Given the description of an element on the screen output the (x, y) to click on. 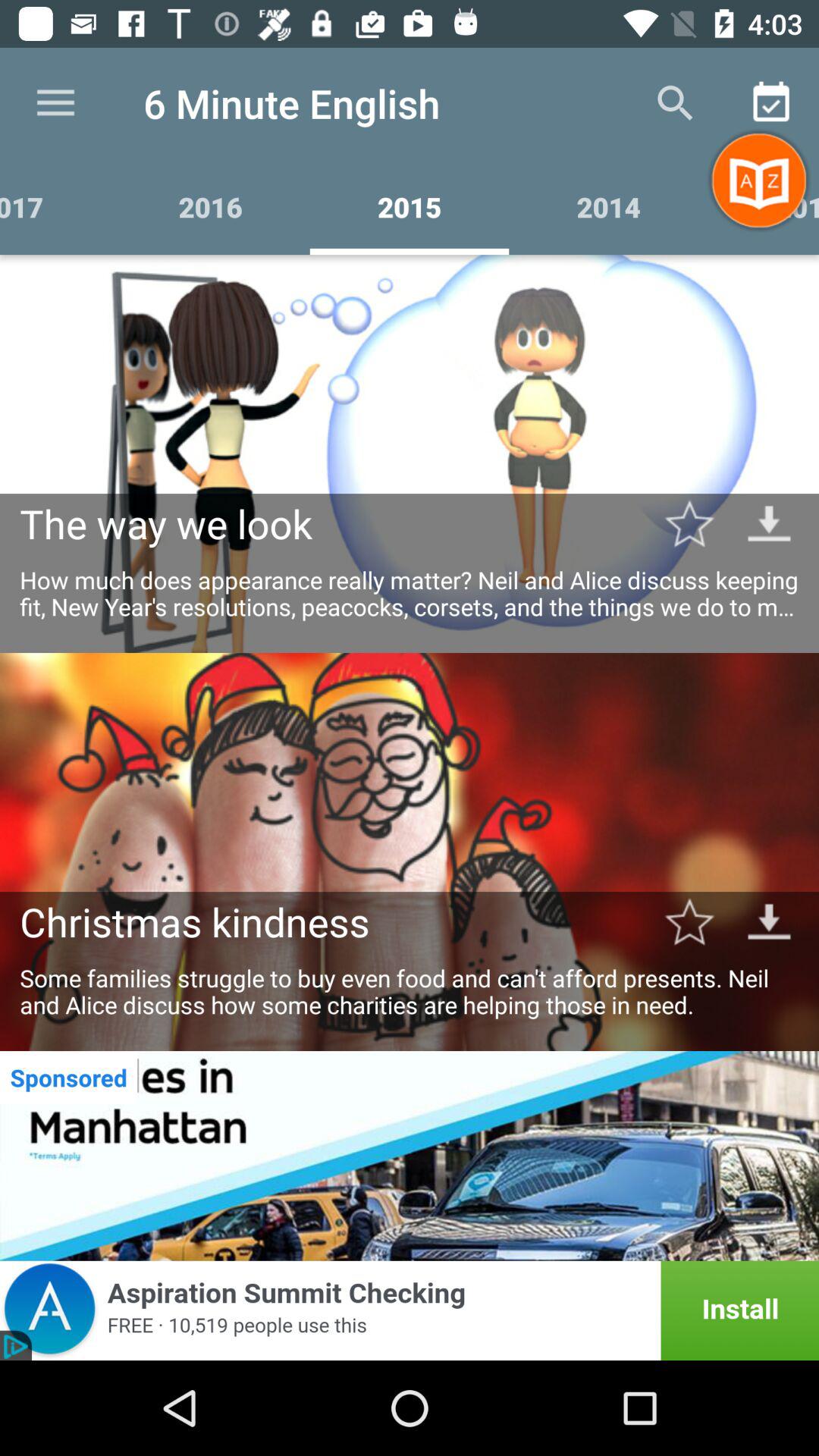
turn on the icon to the right of 6 minute english (675, 103)
